Given the description of an element on the screen output the (x, y) to click on. 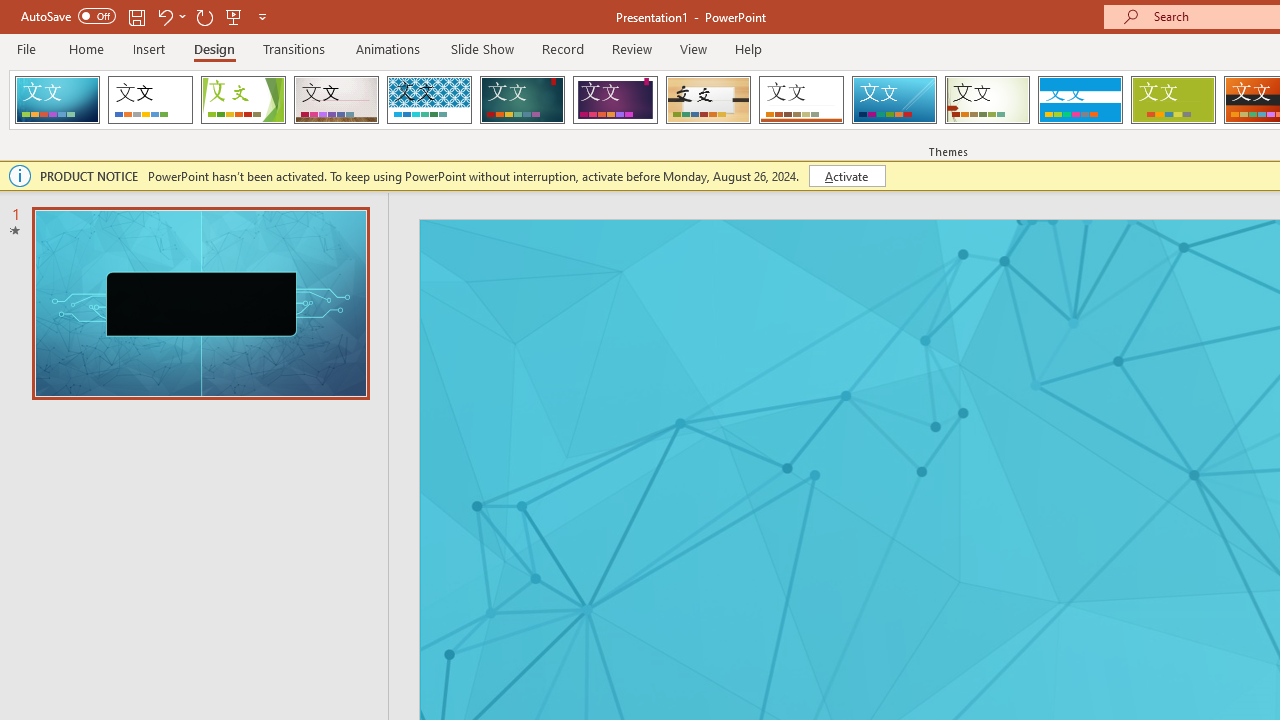
Ion Boardroom (615, 100)
Organic (708, 100)
Activate (846, 175)
Office Theme (150, 100)
